Given the description of an element on the screen output the (x, y) to click on. 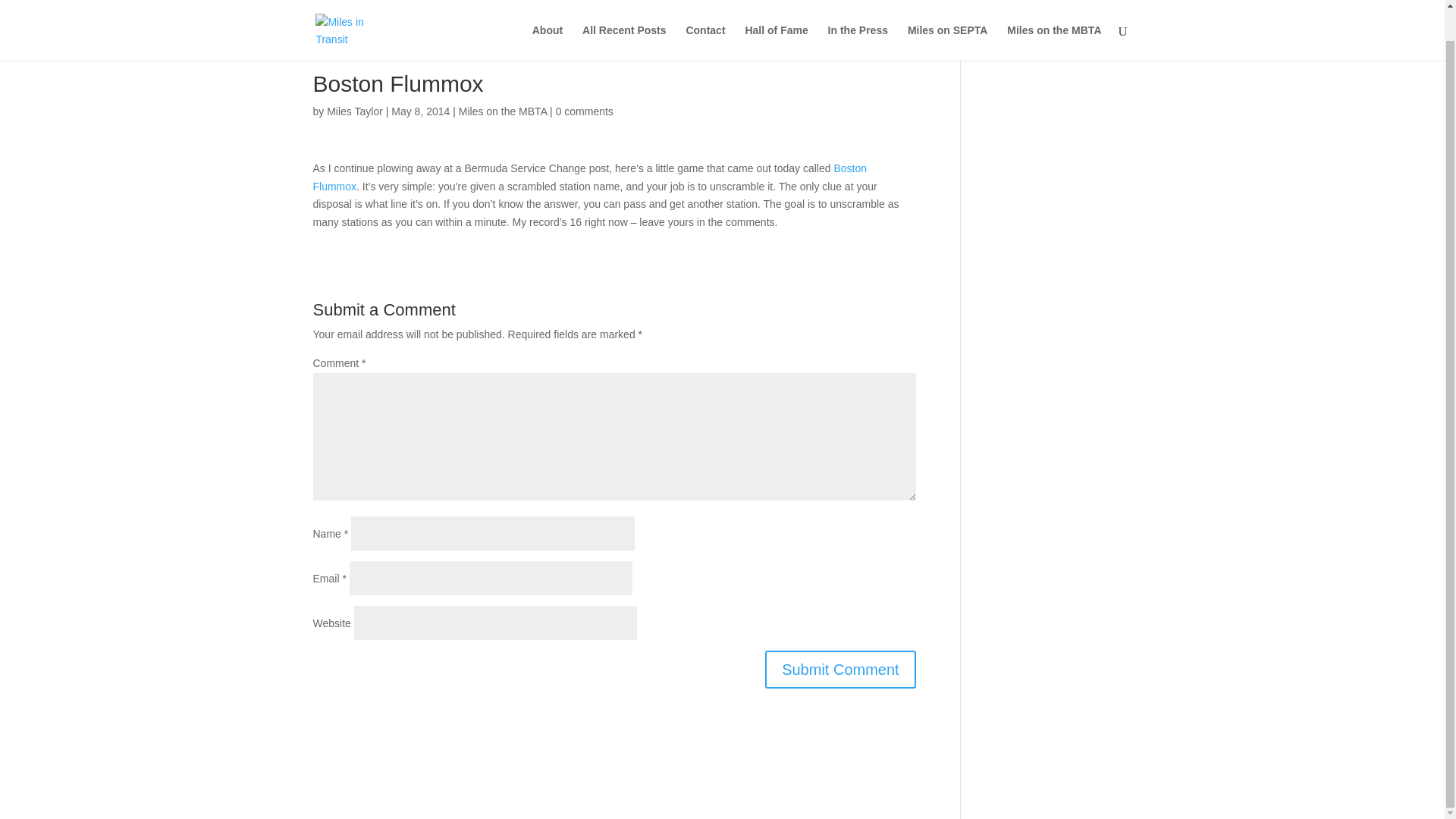
Hall of Fame (776, 14)
Miles on the MBTA (1053, 14)
Posts by Miles Taylor (354, 111)
Submit Comment (840, 669)
Contact (705, 14)
Submit Comment (840, 669)
Boston Flummox (589, 177)
In the Press (858, 14)
Miles Taylor (354, 111)
Miles on the MBTA (502, 111)
